Given the description of an element on the screen output the (x, y) to click on. 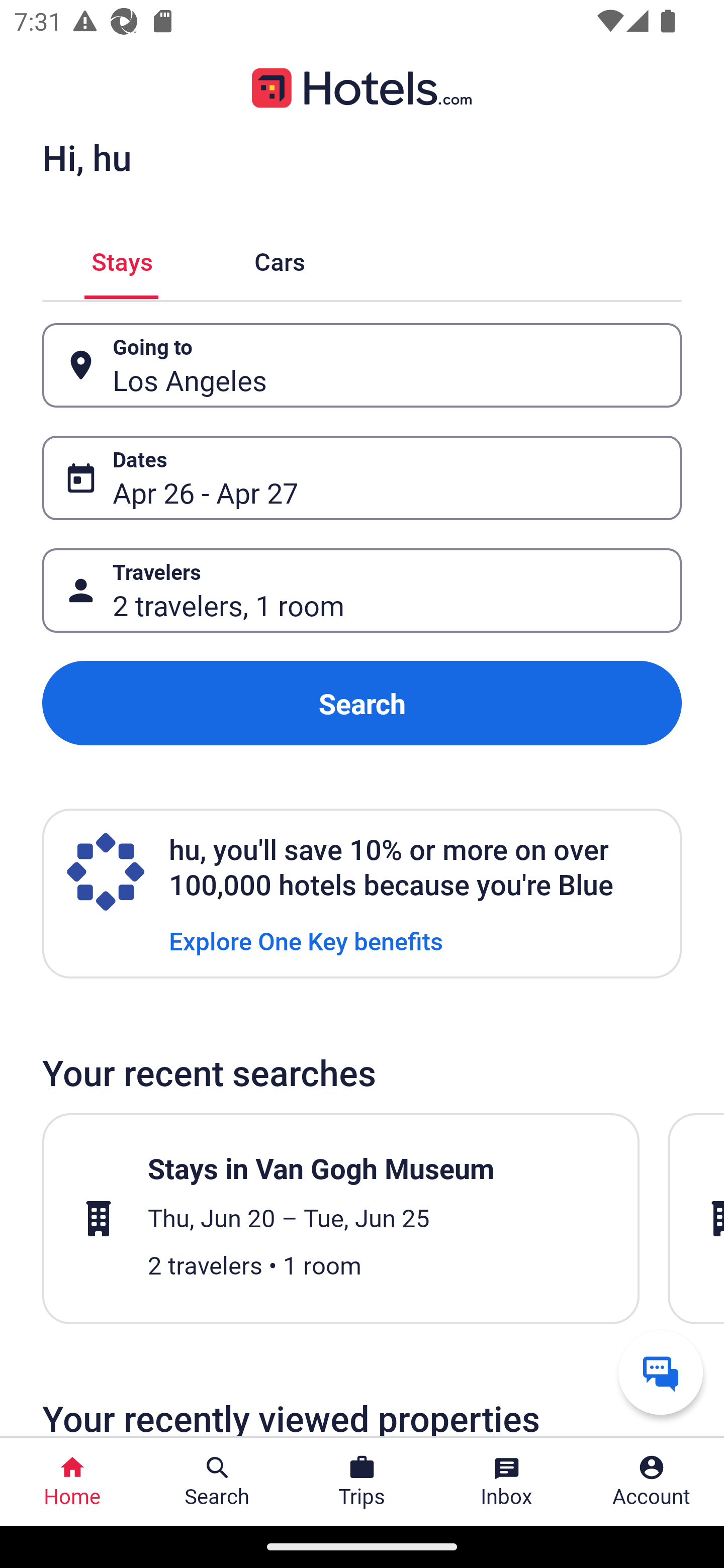
Hi, hu (86, 156)
Cars (279, 259)
Going to Button Los Angeles (361, 365)
Dates Button Apr 26 - Apr 27 (361, 477)
Travelers Button 2 travelers, 1 room (361, 590)
Search (361, 702)
Get help from a virtual agent (660, 1371)
Search Search Button (216, 1481)
Trips Trips Button (361, 1481)
Inbox Inbox Button (506, 1481)
Account Profile. Button (651, 1481)
